Given the description of an element on the screen output the (x, y) to click on. 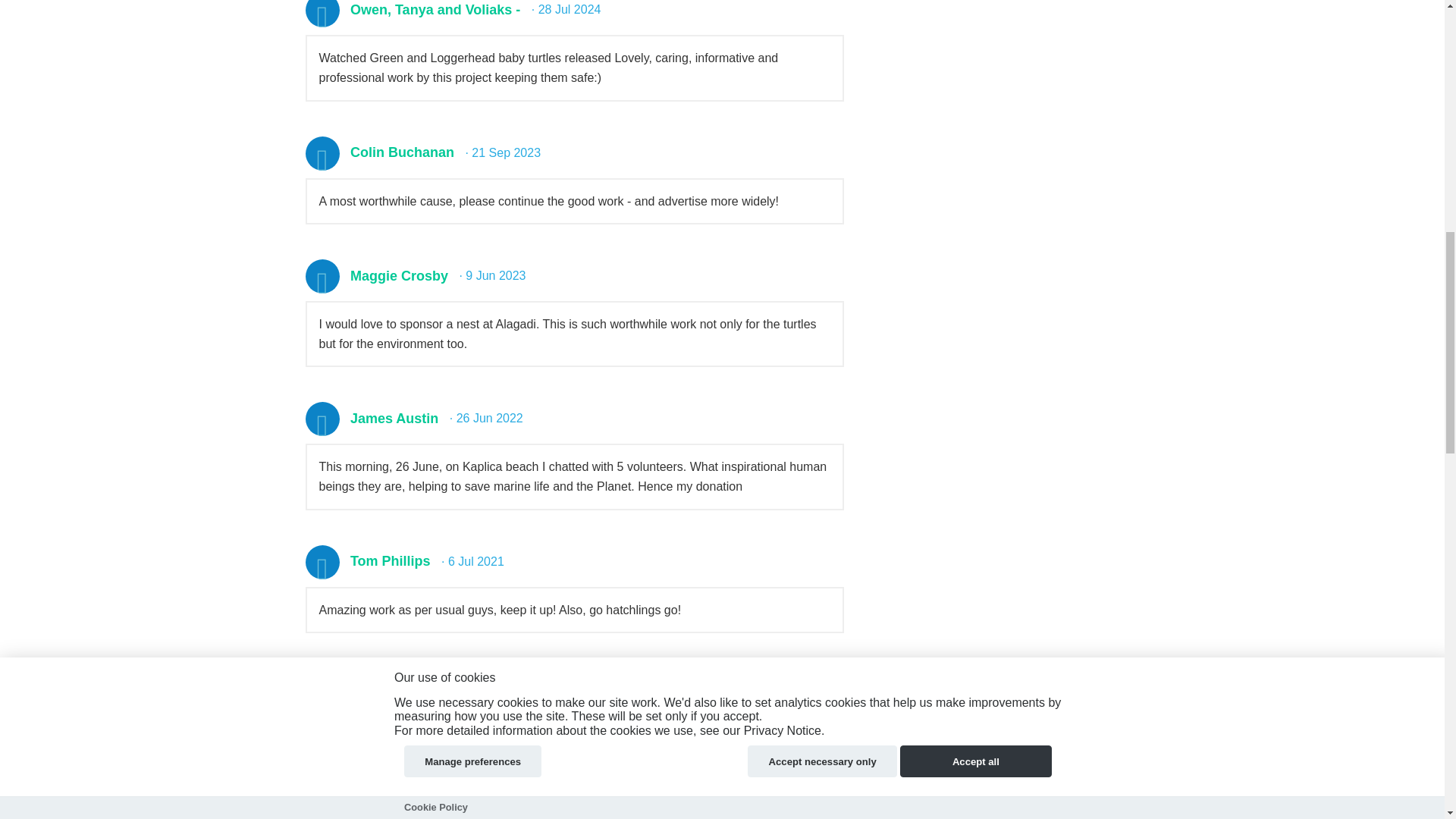
James Austin (394, 418)
Maggie Crosby (399, 275)
Owen, Tanya and Voliaks - (434, 9)
Colin Buchanan (402, 151)
Stephen Barabas (405, 684)
Tom Phillips (390, 560)
